Given the description of an element on the screen output the (x, y) to click on. 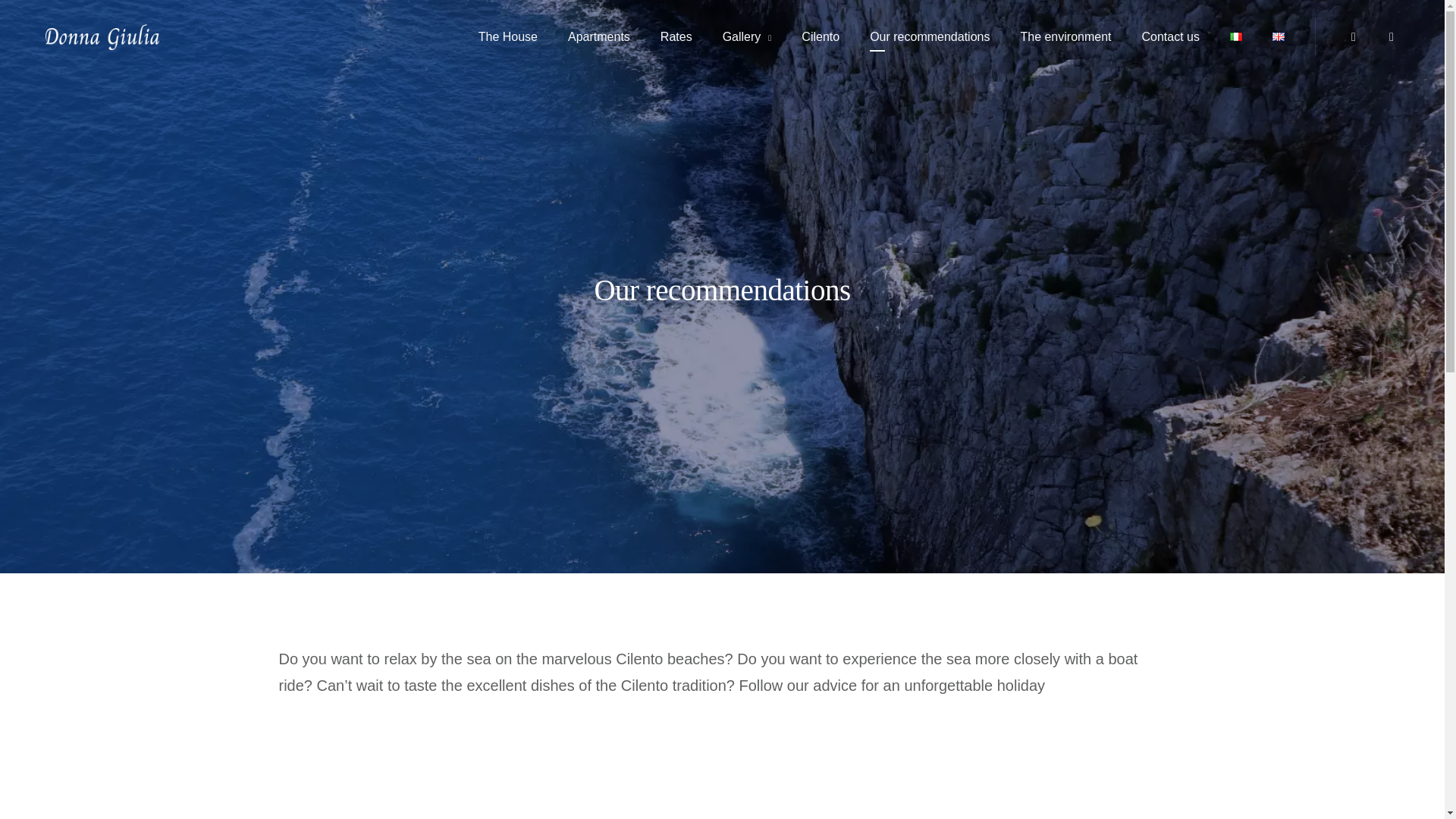
Contact us (1170, 36)
Rates (676, 36)
The House (508, 36)
The environment (1064, 36)
Apartments (599, 36)
Cilento (820, 36)
Gallery (747, 36)
Our recommendations (929, 36)
